Given the description of an element on the screen output the (x, y) to click on. 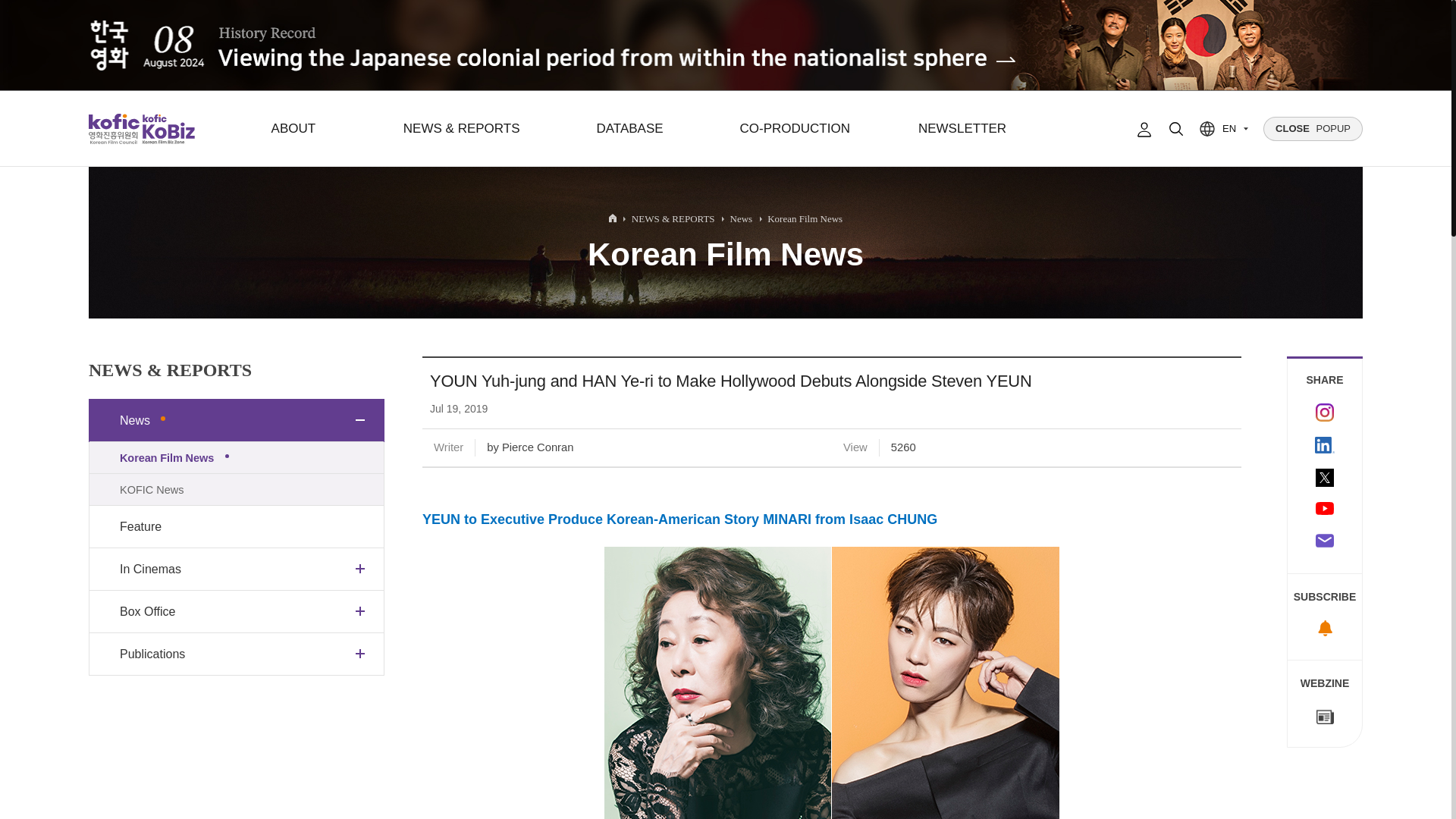
Kofic (113, 128)
POPUP (1312, 128)
DATABASE (628, 128)
NEWSLETTER (962, 128)
ABOUT (292, 128)
Kobiz (167, 128)
ABOUT (292, 128)
CO-PRODUCTION (793, 128)
Login (1144, 128)
DATABASE (628, 128)
